Given the description of an element on the screen output the (x, y) to click on. 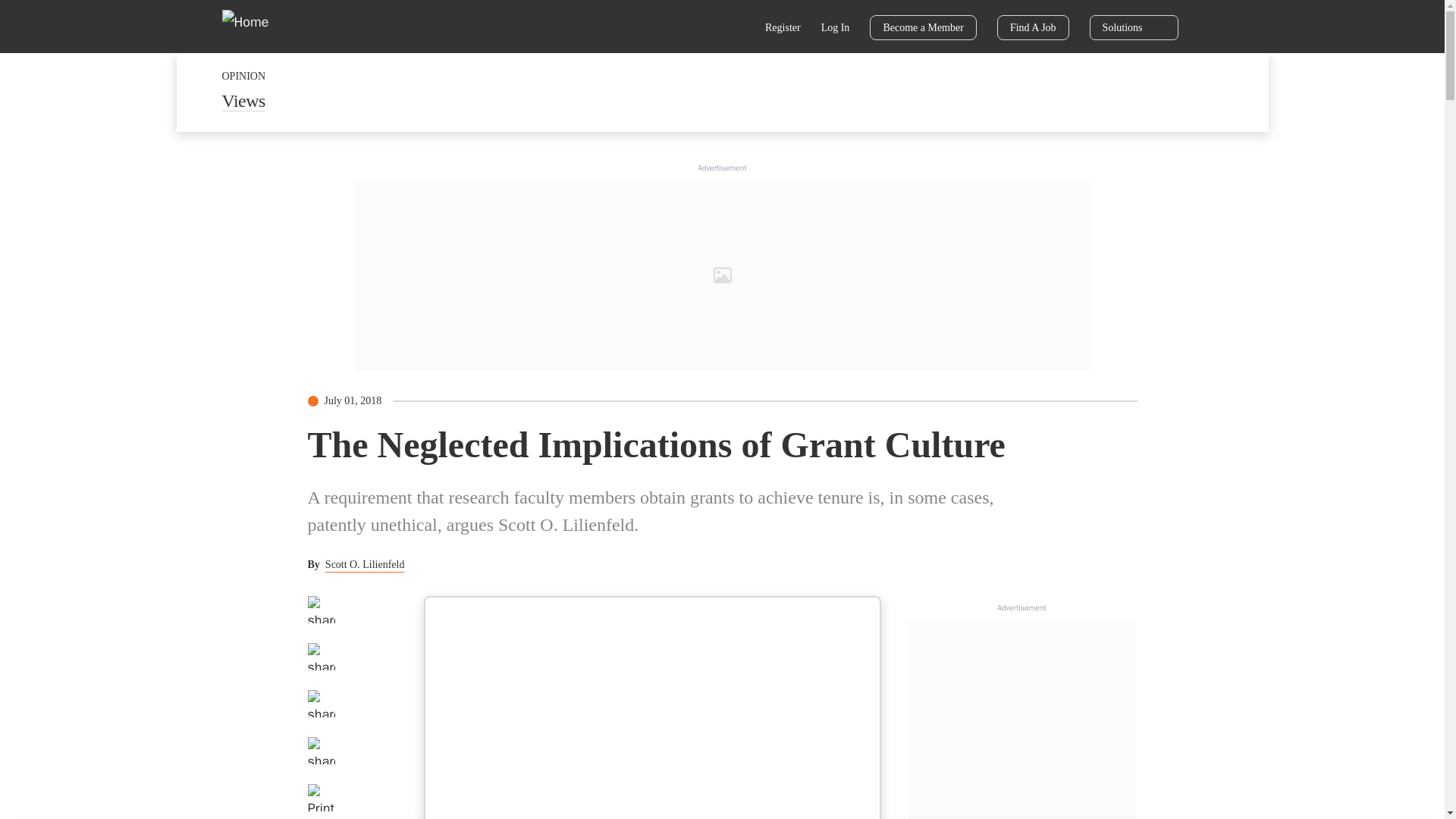
Find A Job (1032, 27)
share to facebook (320, 609)
Become a Member (922, 27)
share by email (320, 750)
Search (736, 28)
share to Linkedin (320, 703)
Home (255, 26)
share to twitter (320, 656)
